Given the description of an element on the screen output the (x, y) to click on. 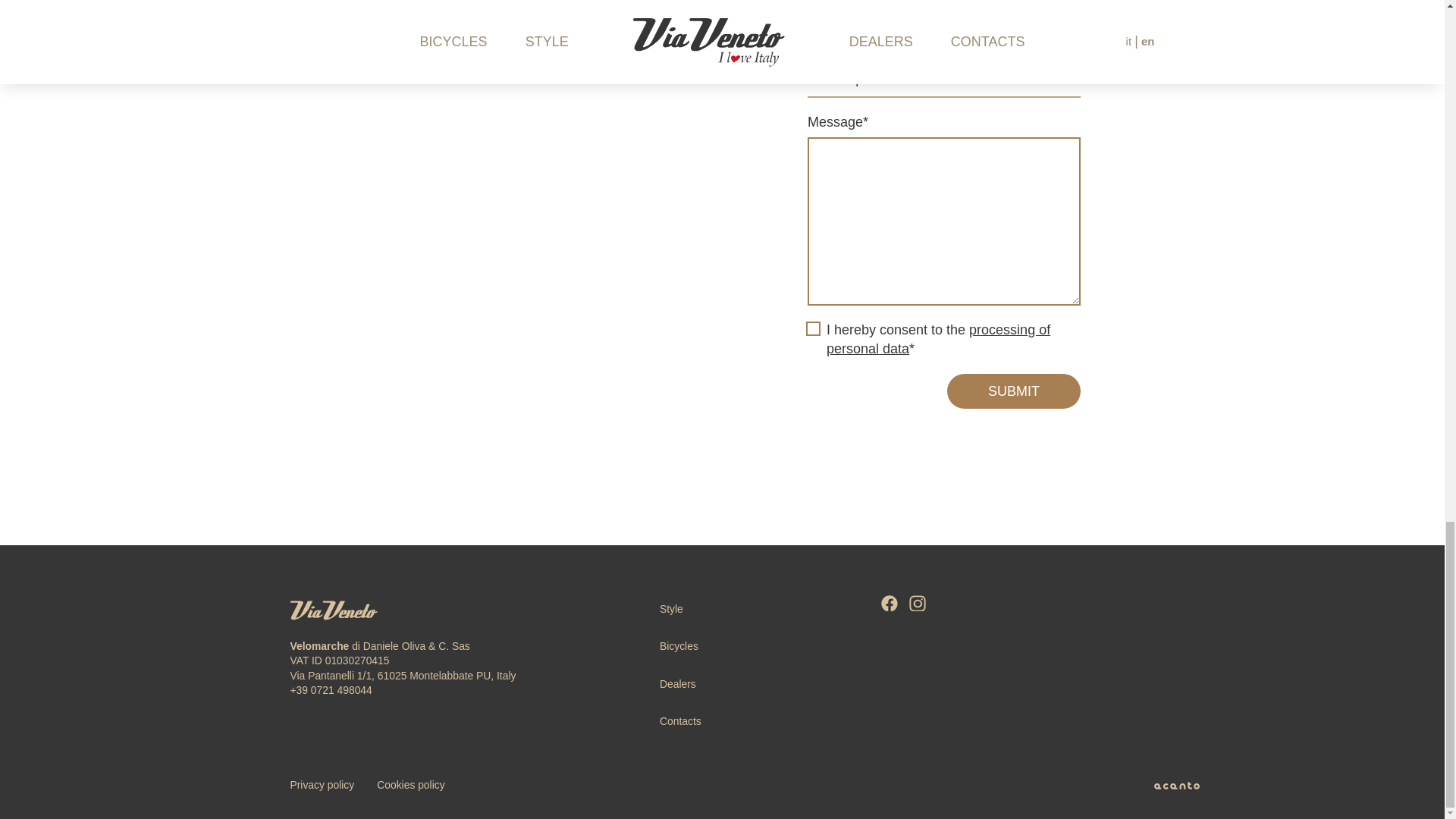
processing of personal data (938, 339)
Dealers (677, 684)
Bicycles (678, 645)
Contacts (680, 720)
Style (670, 608)
SUBMIT (1013, 390)
Privacy policy (321, 784)
Cookies policy (410, 784)
